Given the description of an element on the screen output the (x, y) to click on. 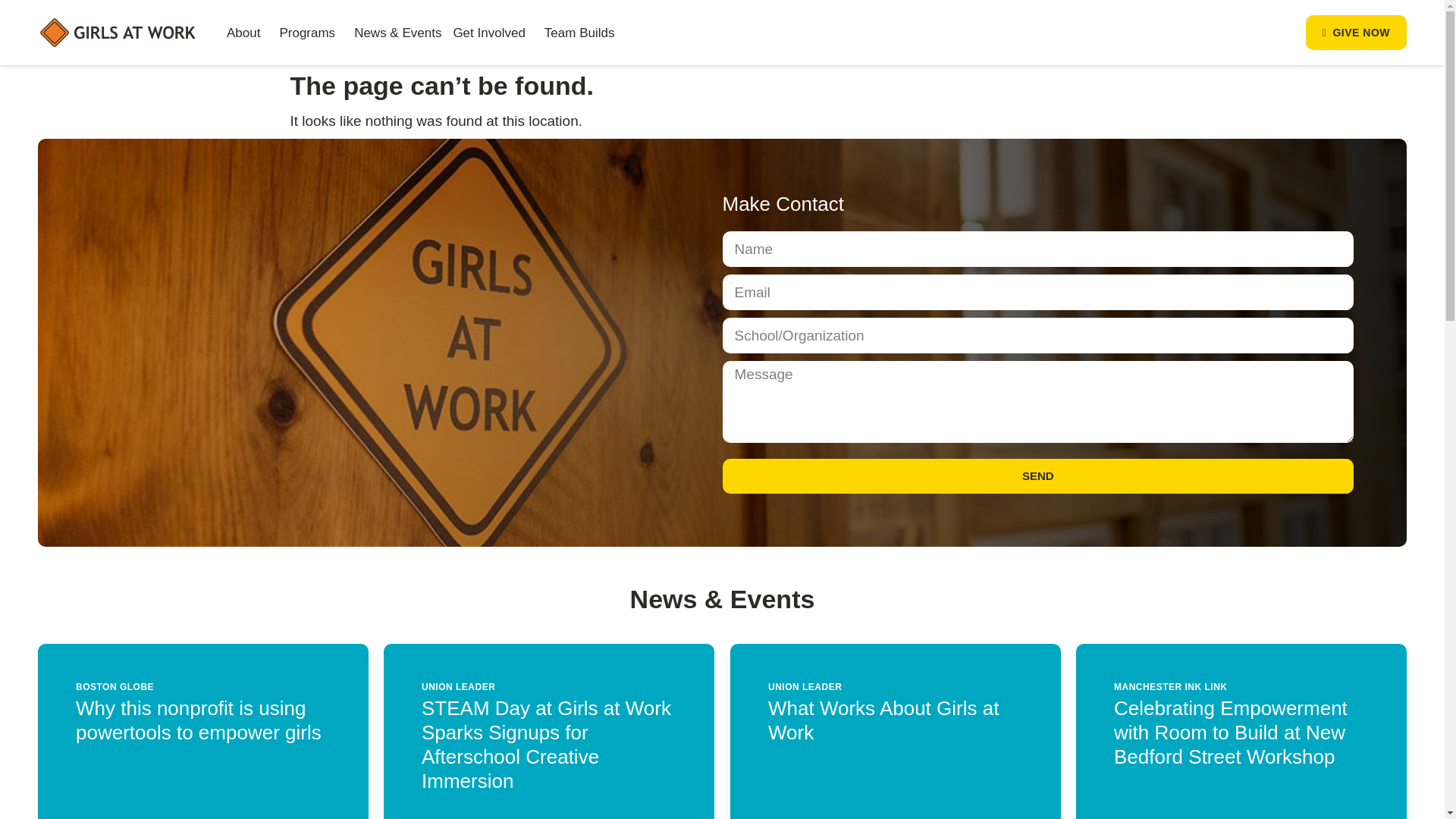
About (247, 32)
